Given the description of an element on the screen output the (x, y) to click on. 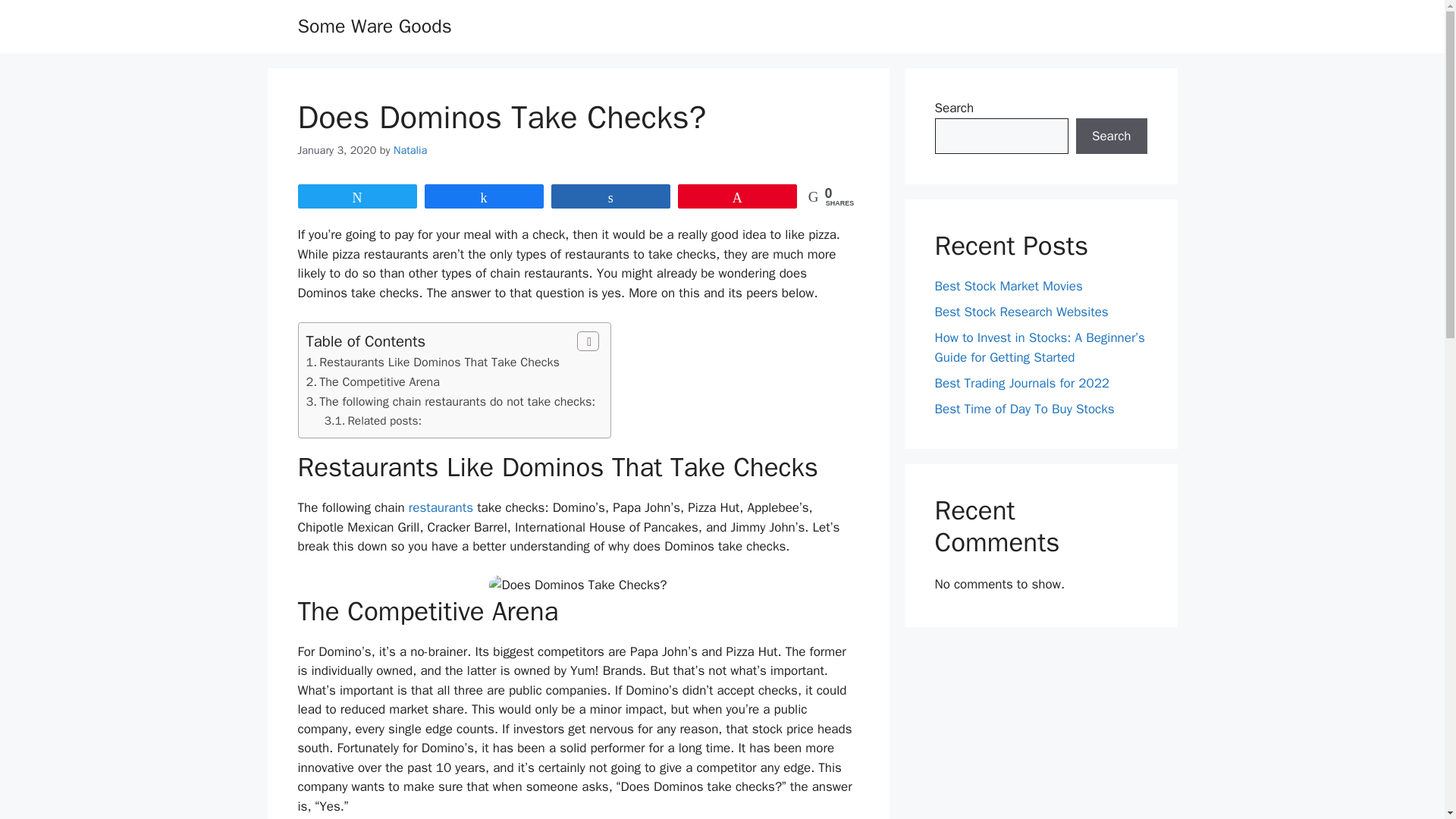
Natalia (456, 401)
The Competitive Arena (409, 150)
Restaurants Like Dominos That Take Checks (378, 381)
Related posts: (438, 361)
restaurants (384, 420)
Best Stock Research Websites (441, 507)
The following chain restaurants do not take checks: (1021, 311)
Best Stock Market Movies (456, 401)
Best Time of Day To Buy Stocks (1007, 286)
